Given the description of an element on the screen output the (x, y) to click on. 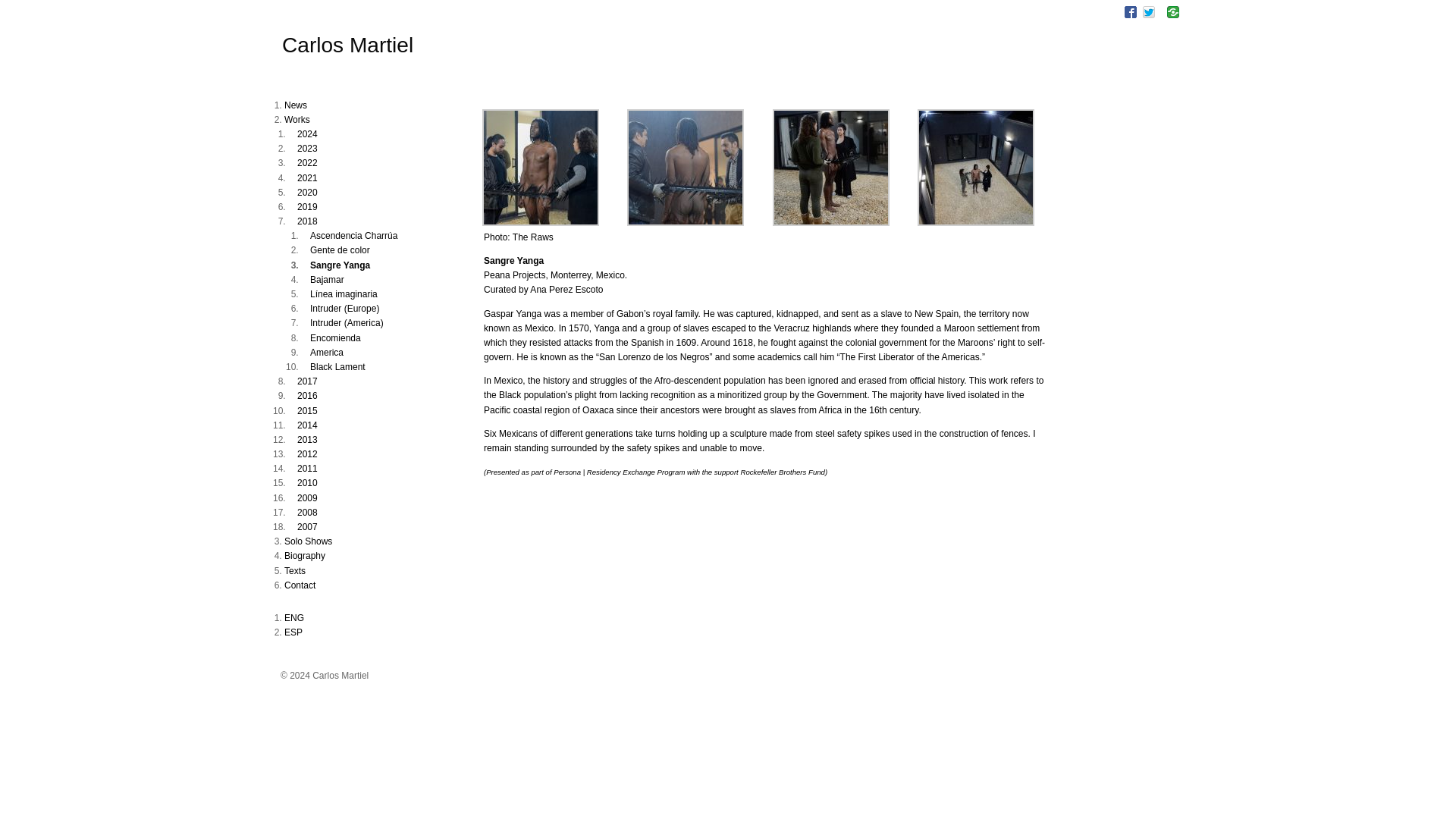
2023 (307, 148)
ESP (292, 632)
Carlos Martiel (347, 44)
Sangre Yanga (539, 222)
ENG (293, 617)
Works (296, 119)
2024 (307, 133)
Sangre Yanga (685, 222)
Sangre Yanga (975, 222)
News (295, 104)
